Given the description of an element on the screen output the (x, y) to click on. 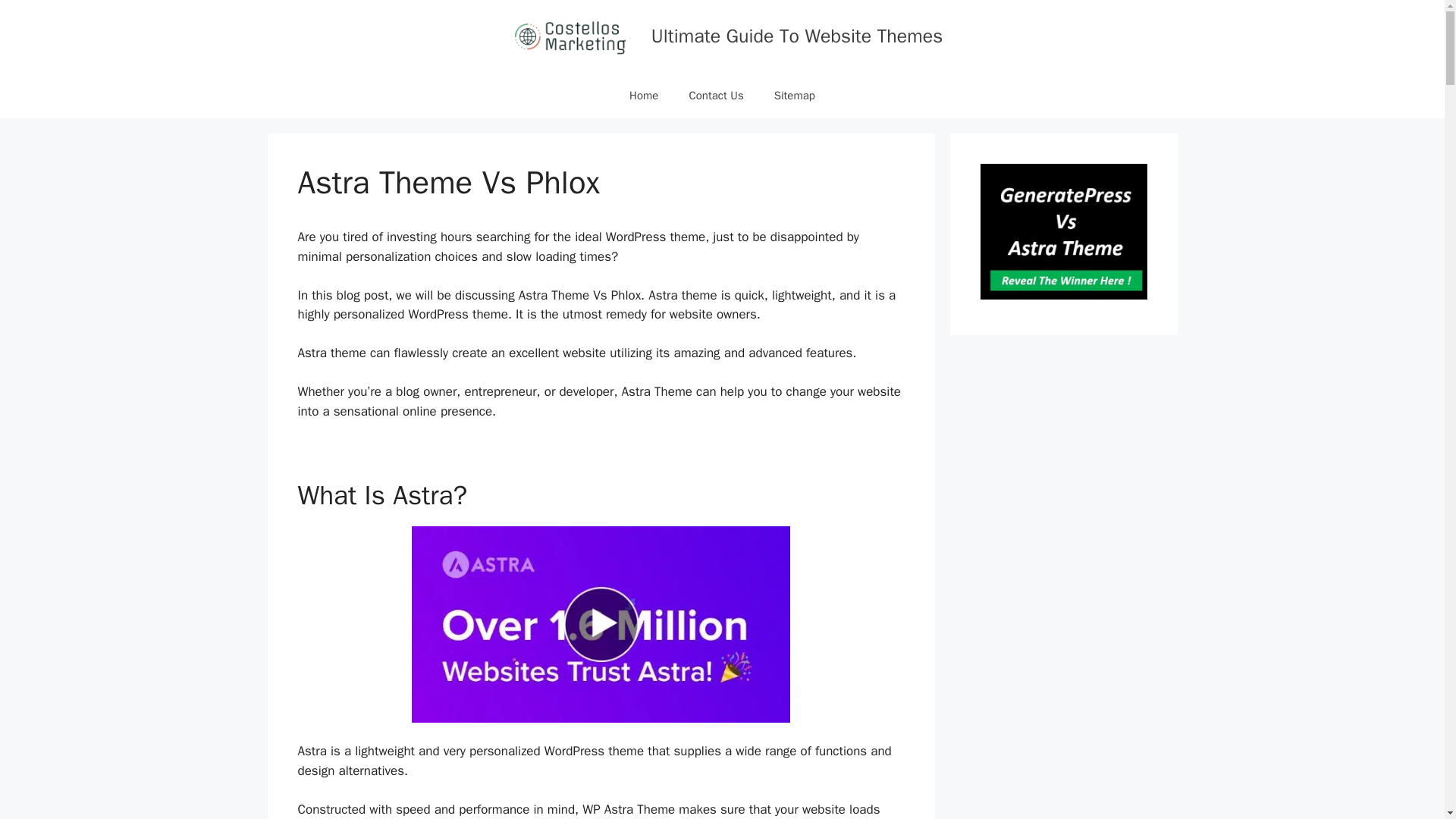
Contact Us (715, 94)
Ultimate Guide To Website Themes (796, 35)
Home (643, 94)
Sitemap (793, 94)
